Given the description of an element on the screen output the (x, y) to click on. 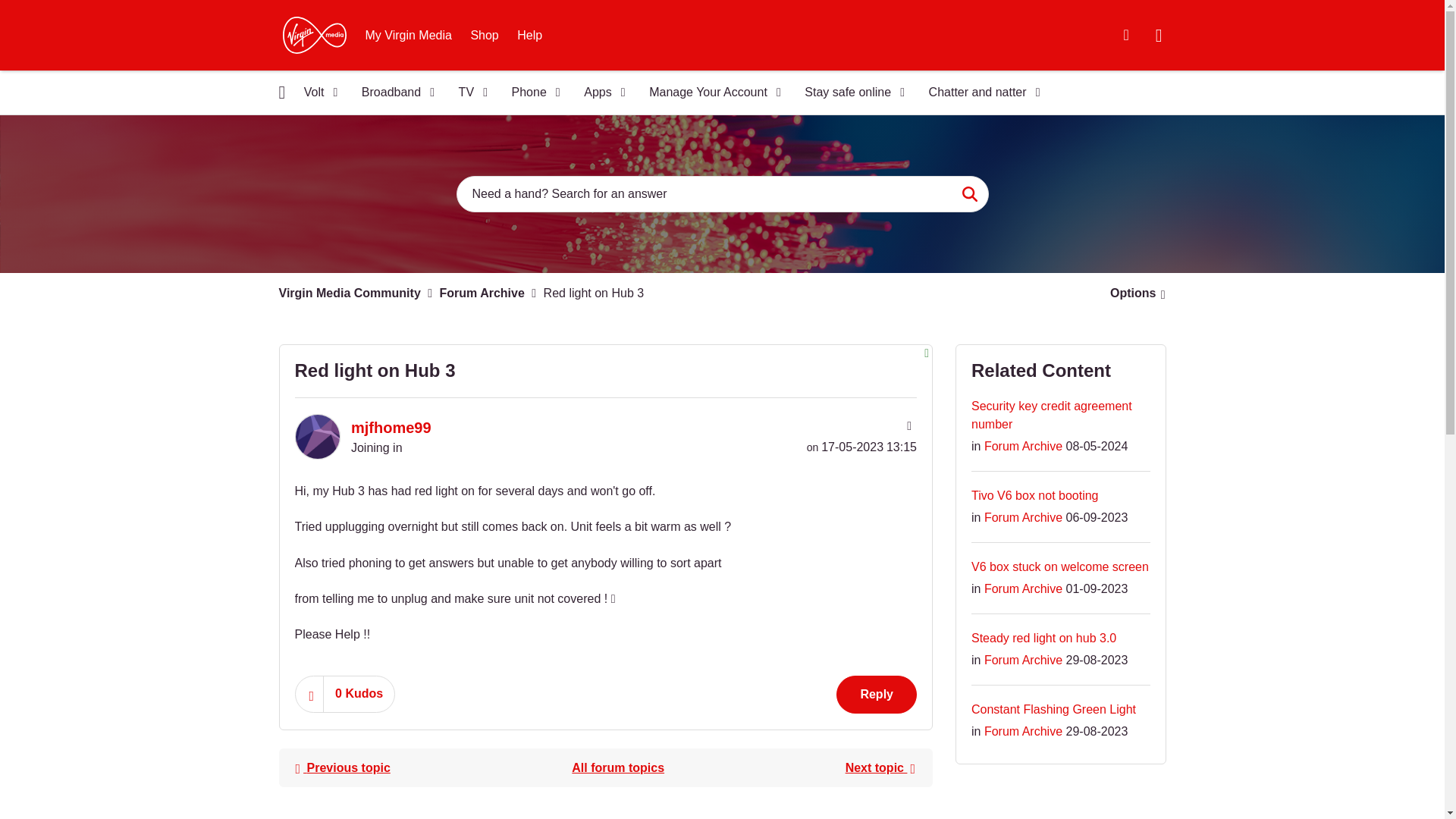
My Virgin Media (409, 34)
Volt (315, 92)
Search (969, 193)
Broadband (392, 92)
TV (468, 92)
Search (969, 193)
Apps (599, 92)
Phone (531, 92)
Show option menu (1133, 293)
Manage Your Account (709, 92)
